Given the description of an element on the screen output the (x, y) to click on. 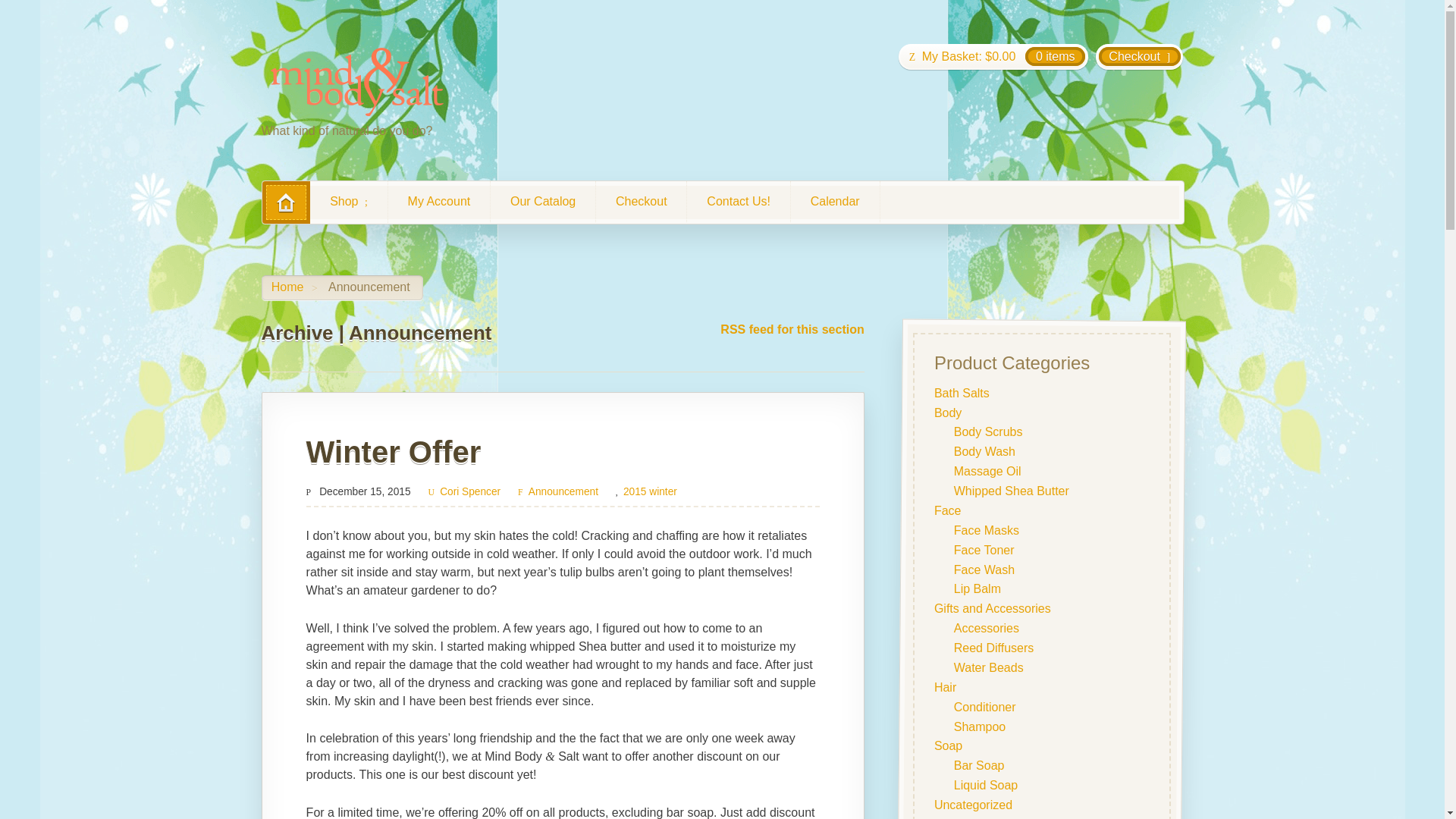
Posts by Cori Spencer (464, 491)
Checkout (1139, 56)
Home (287, 287)
My Account (438, 200)
Contact Us! (738, 200)
Shop (348, 201)
Checkout (640, 200)
Calendar (834, 200)
Winter Offer (393, 451)
What kind of natural do you do? (356, 82)
2015 winter (650, 491)
0 items in your shopping cart (992, 56)
Our Catalog (542, 200)
Winter Offer (393, 451)
RSS feed for this section (791, 328)
